Given the description of an element on the screen output the (x, y) to click on. 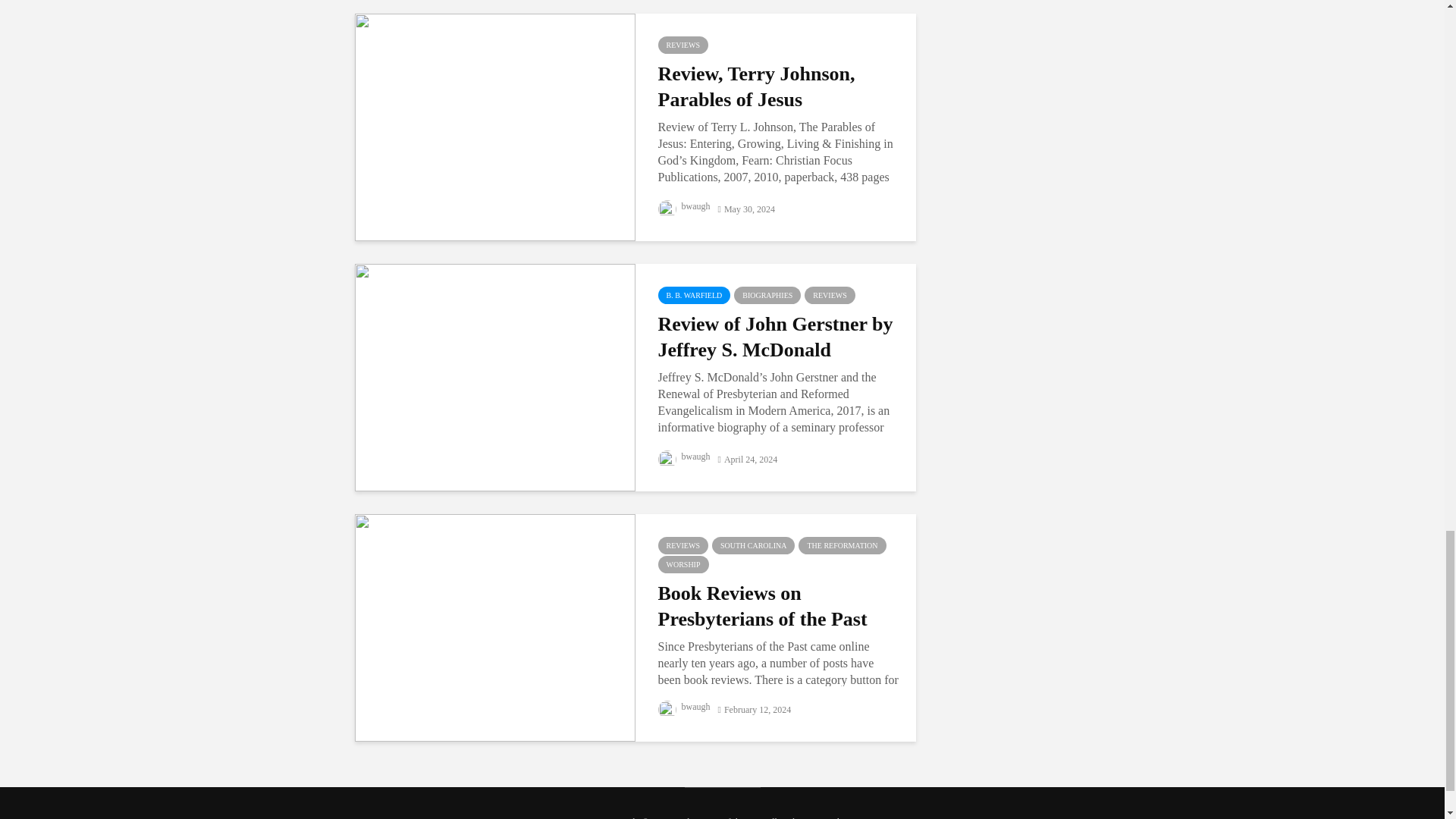
Review of John Gerstner by Jeffrey S. McDonald (494, 376)
Book Reviews on Presbyterians of the Past (494, 626)
Review, Terry Johnson, Parables of Jesus (494, 125)
